Given the description of an element on the screen output the (x, y) to click on. 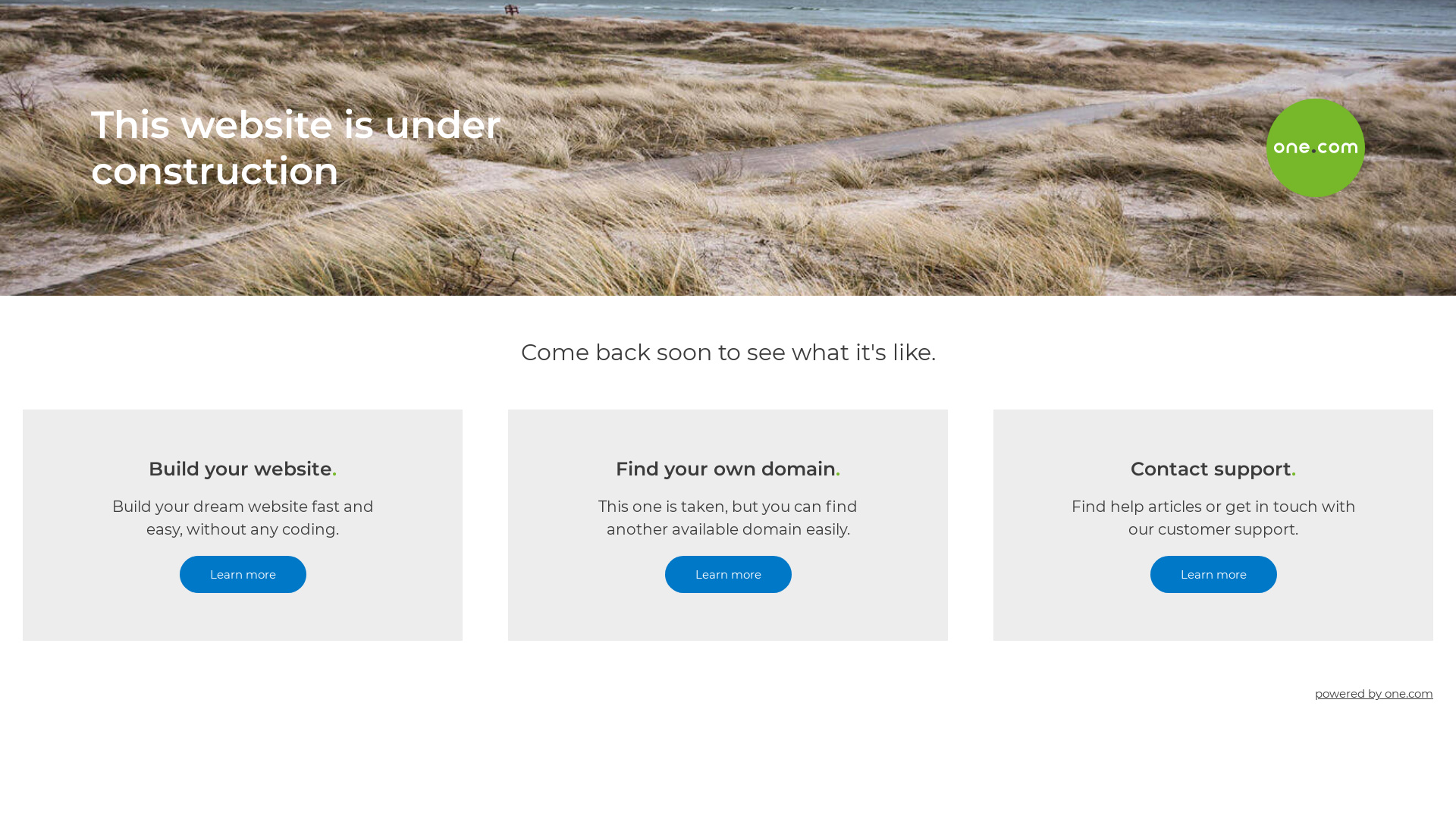
Learn more Element type: text (1212, 574)
Learn more Element type: text (727, 574)
Learn more Element type: text (241, 574)
powered by one.com Element type: text (1373, 693)
